Given the description of an element on the screen output the (x, y) to click on. 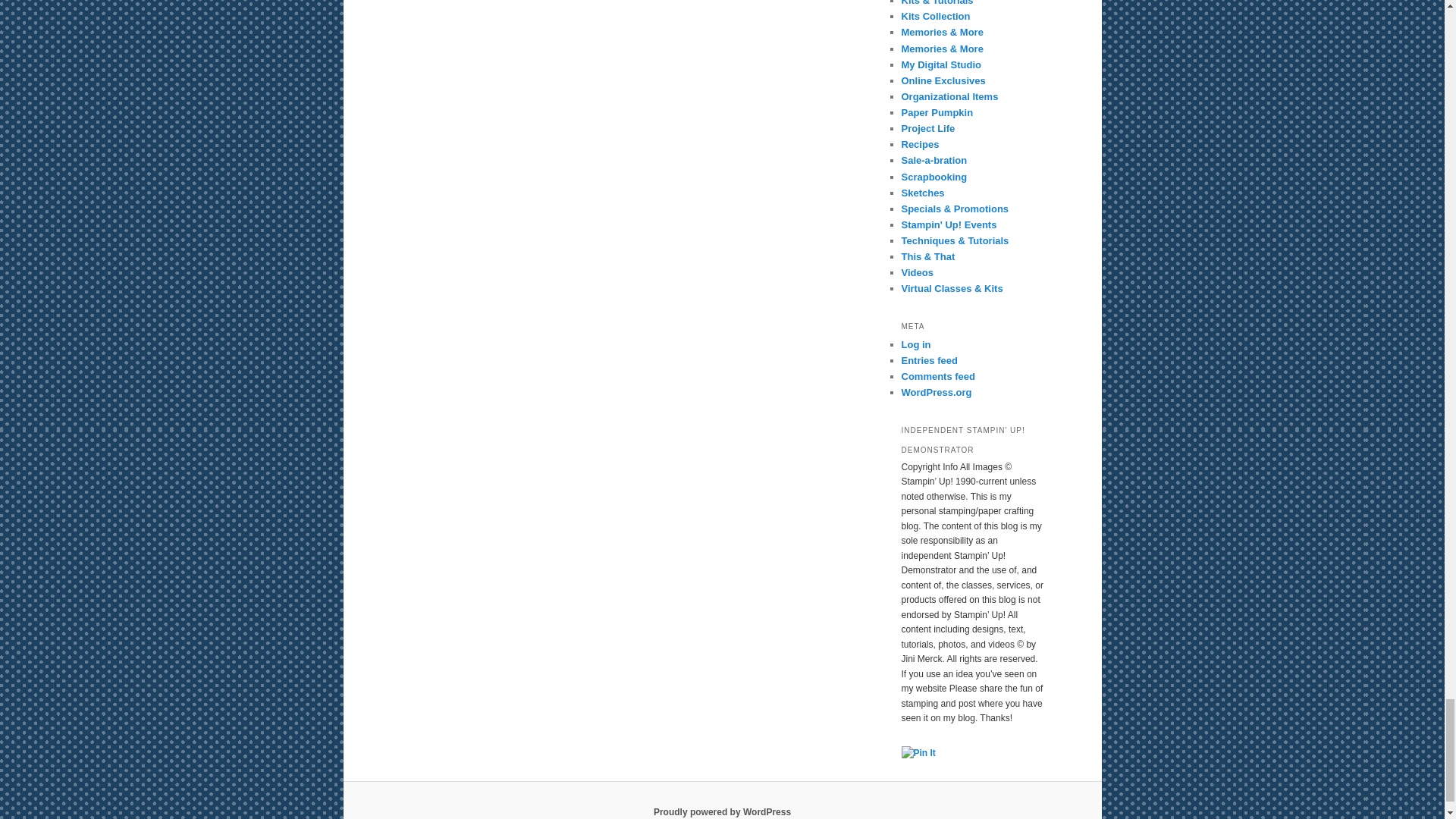
Pin It (917, 753)
Semantic Personal Publishing Platform (721, 811)
